Given the description of an element on the screen output the (x, y) to click on. 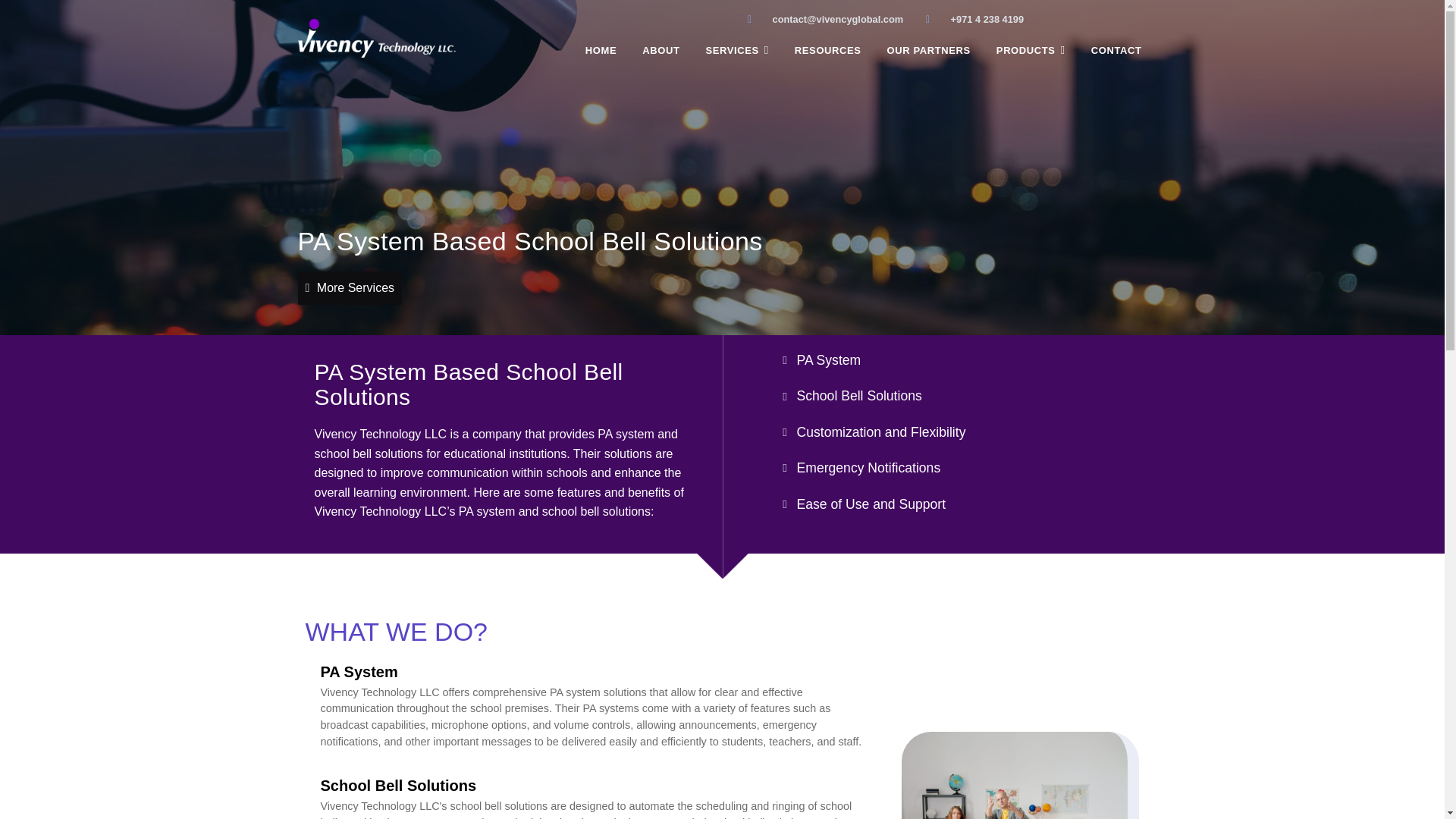
CONTACT (1116, 50)
ABOUT (660, 50)
HOME (600, 50)
OUR PARTNERS (928, 50)
PRODUCTS (1030, 49)
SERVICES (736, 49)
RESOURCES (827, 50)
